Given the description of an element on the screen output the (x, y) to click on. 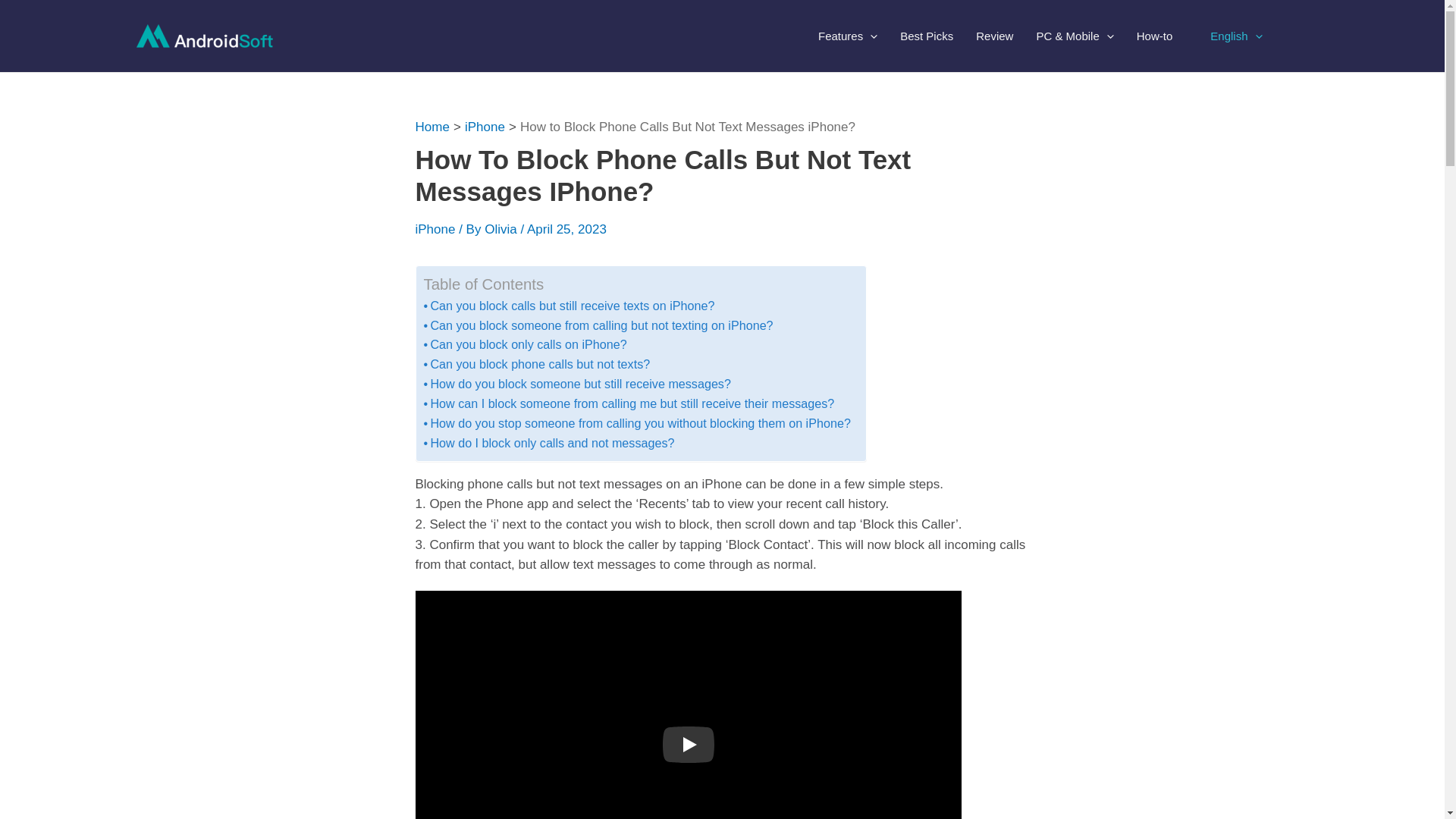
iPhone (434, 228)
Home (431, 126)
View all posts by Olivia (501, 228)
Can you block calls but still receive texts on iPhone? (571, 305)
Can you block phone calls but not texts? (539, 364)
How do you block someone but still receive messages? (579, 383)
Can you block calls but still receive texts on iPhone? (571, 305)
iPhone (484, 126)
How do I block only calls and not messages? (551, 442)
Best Picks (925, 36)
Can you block only calls on iPhone? (527, 344)
